Given the description of an element on the screen output the (x, y) to click on. 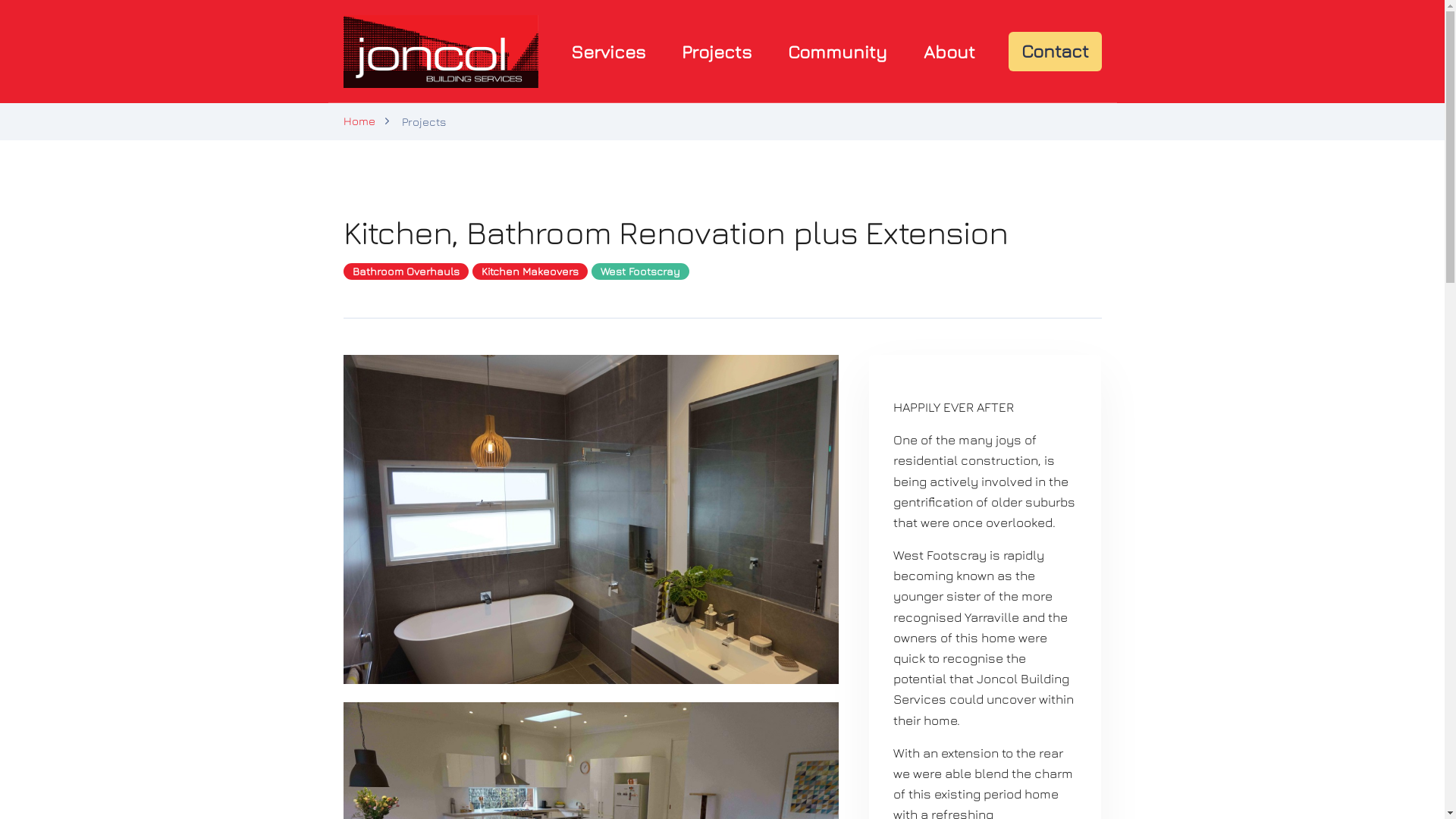
Projects Element type: text (716, 51)
Community Element type: text (837, 51)
Home Element type: text (358, 120)
Services Element type: text (607, 51)
Contact Element type: text (1054, 50)
About Element type: text (949, 51)
